Given the description of an element on the screen output the (x, y) to click on. 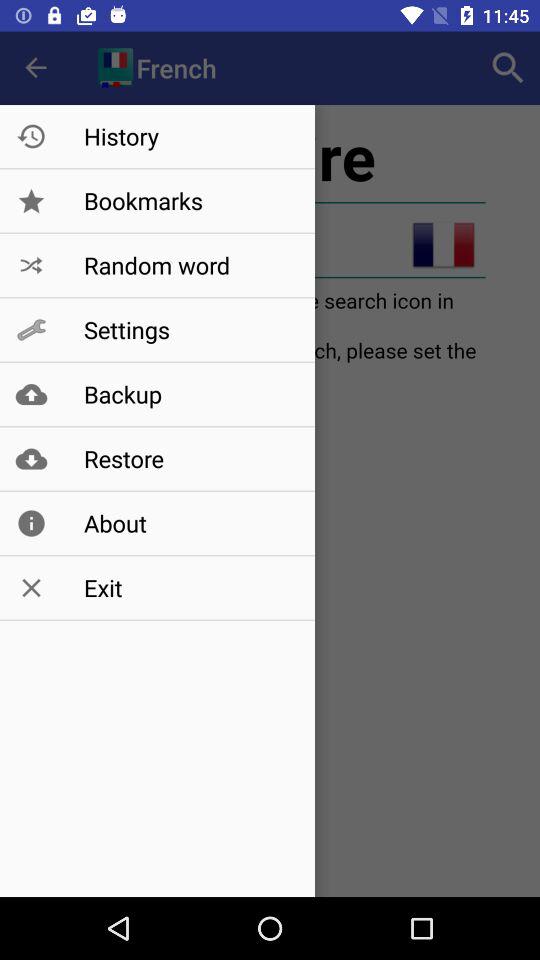
choose the restore (188, 458)
